Given the description of an element on the screen output the (x, y) to click on. 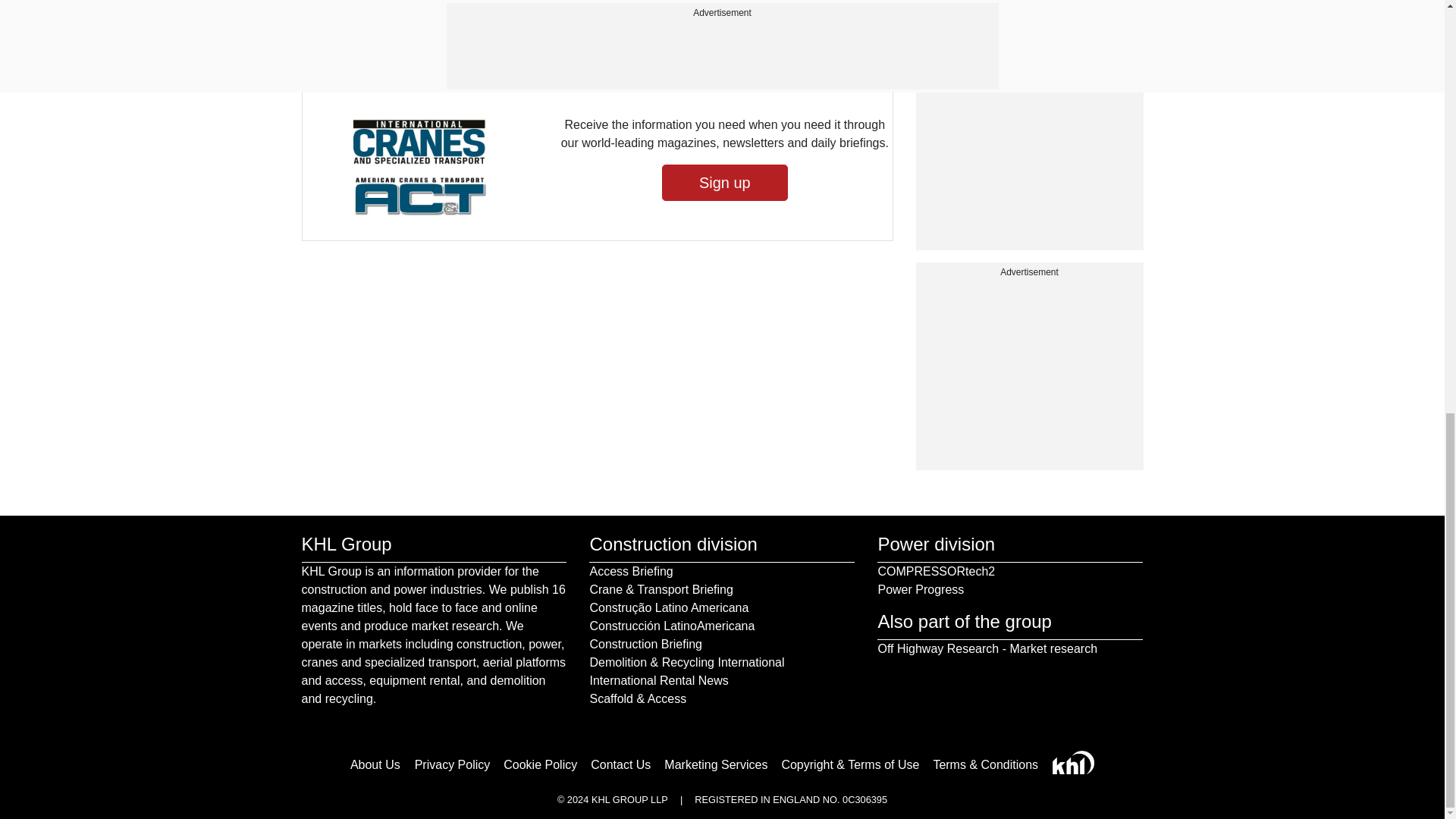
3rd party ad content (1028, 155)
3rd party ad content (1028, 15)
3rd party ad content (1028, 375)
